Given the description of an element on the screen output the (x, y) to click on. 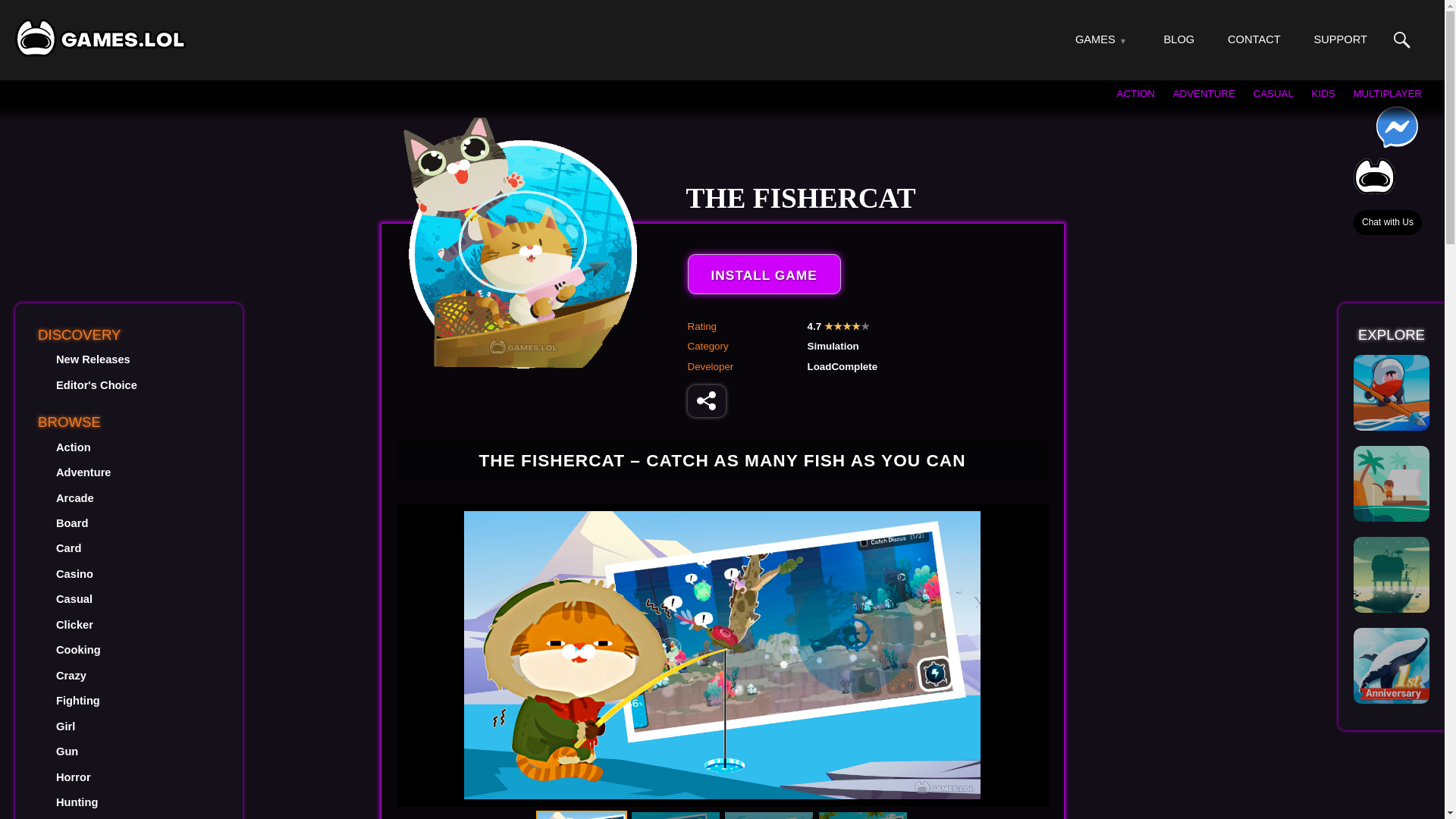
SUPPORT (1340, 39)
Play Wanted Fish on PC (1391, 392)
MULTIPLAYER (1387, 93)
KIDS (1323, 93)
GAMES (1095, 39)
BLOG (1179, 39)
ADVENTURE (1203, 93)
Games.lol free game download website logo (100, 37)
Play Fishing and Life on PC (1391, 574)
Action (73, 447)
